Given the description of an element on the screen output the (x, y) to click on. 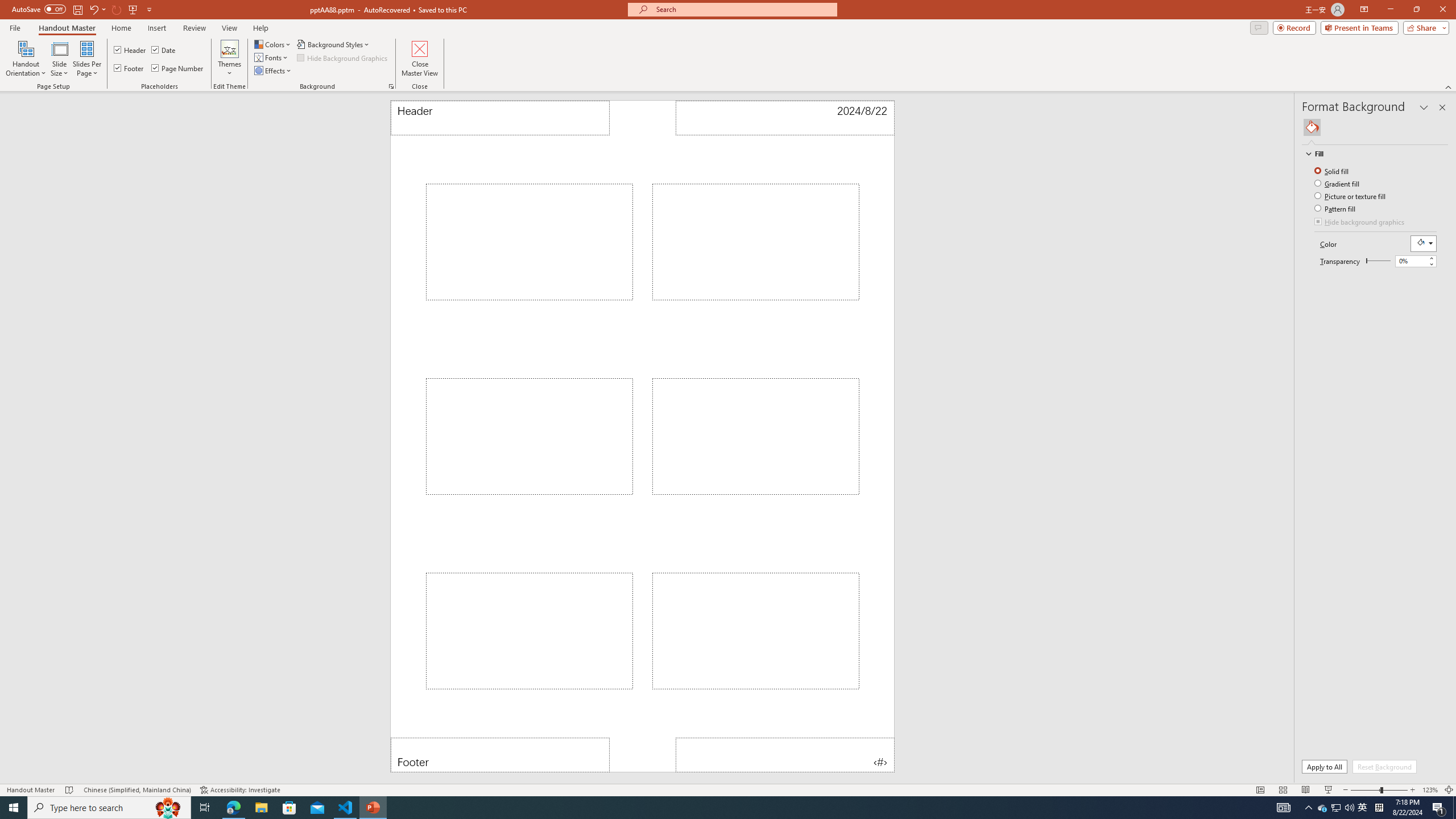
Handout Master (66, 28)
Picture or texture fill (1350, 195)
Gradient fill (1337, 183)
Transparency (1377, 260)
Colors (272, 44)
Fill Color RGB(255, 255, 255) (1423, 243)
Header (130, 49)
Pattern fill (1335, 208)
Date (164, 49)
